Given the description of an element on the screen output the (x, y) to click on. 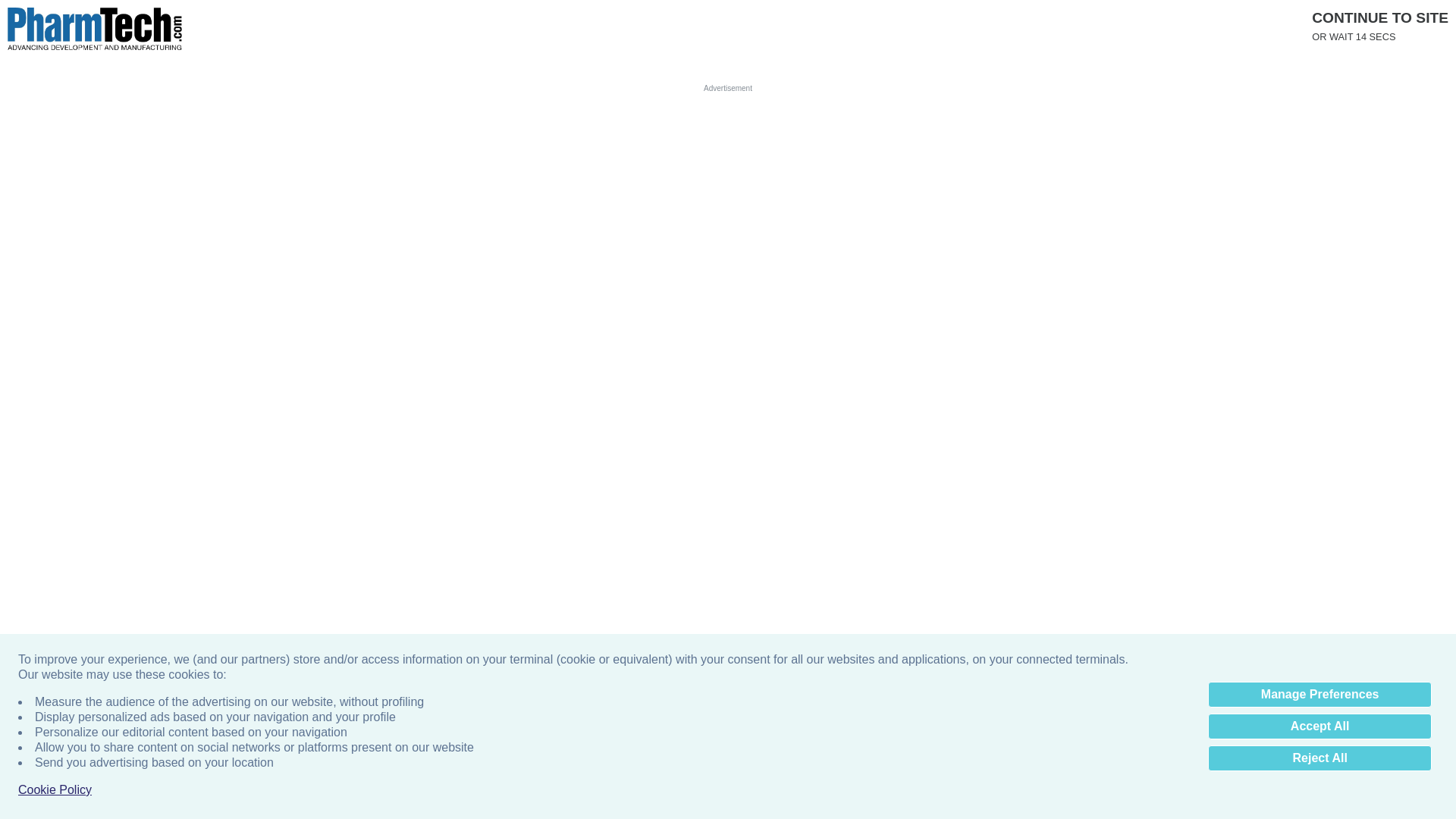
Reject All (1319, 758)
Manage Preferences (1319, 694)
Accept All (1319, 726)
Cookie Policy (54, 789)
